Given the description of an element on the screen output the (x, y) to click on. 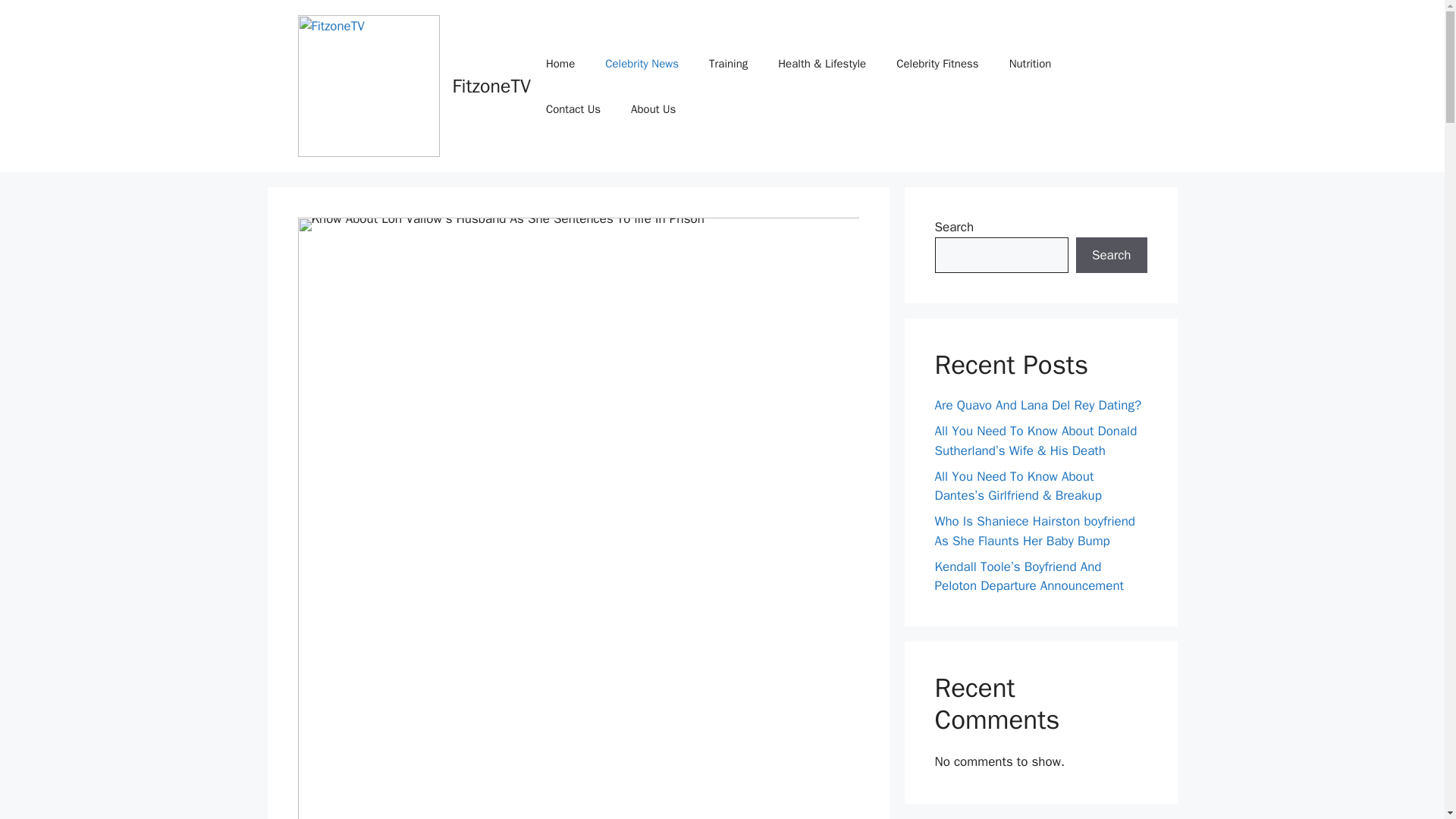
Home (560, 63)
Training (728, 63)
Are Quavo And Lana Del Rey Dating? (1037, 405)
Contact Us (573, 108)
FitzoneTV (490, 85)
Celebrity Fitness (936, 63)
Celebrity News (641, 63)
Nutrition (1030, 63)
About Us (652, 108)
